Given the description of an element on the screen output the (x, y) to click on. 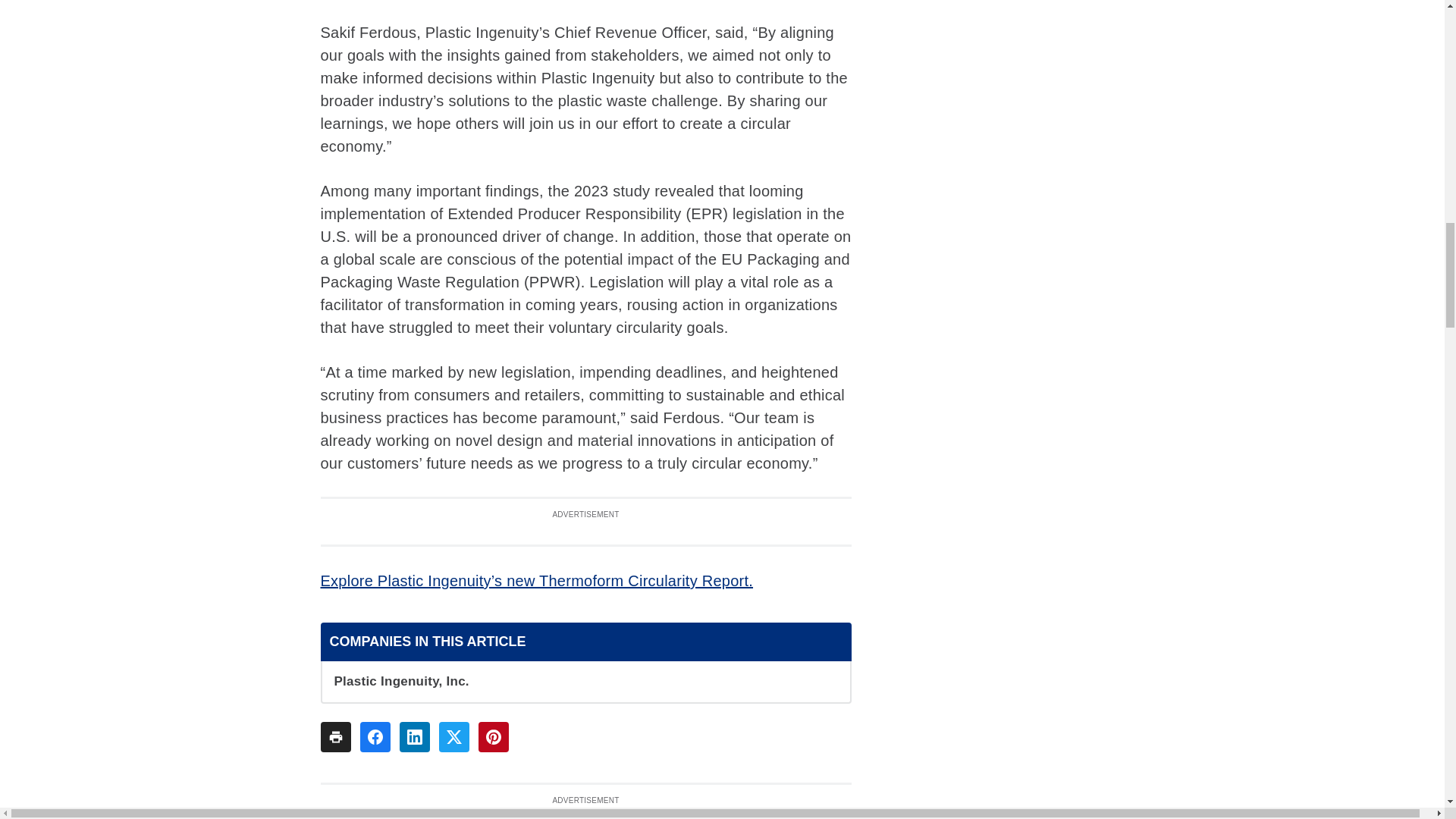
Share To facebook (374, 736)
Share To twitter (453, 736)
Share To linkedin (413, 736)
Share To pinterest (492, 736)
Share To print (335, 736)
